Given the description of an element on the screen output the (x, y) to click on. 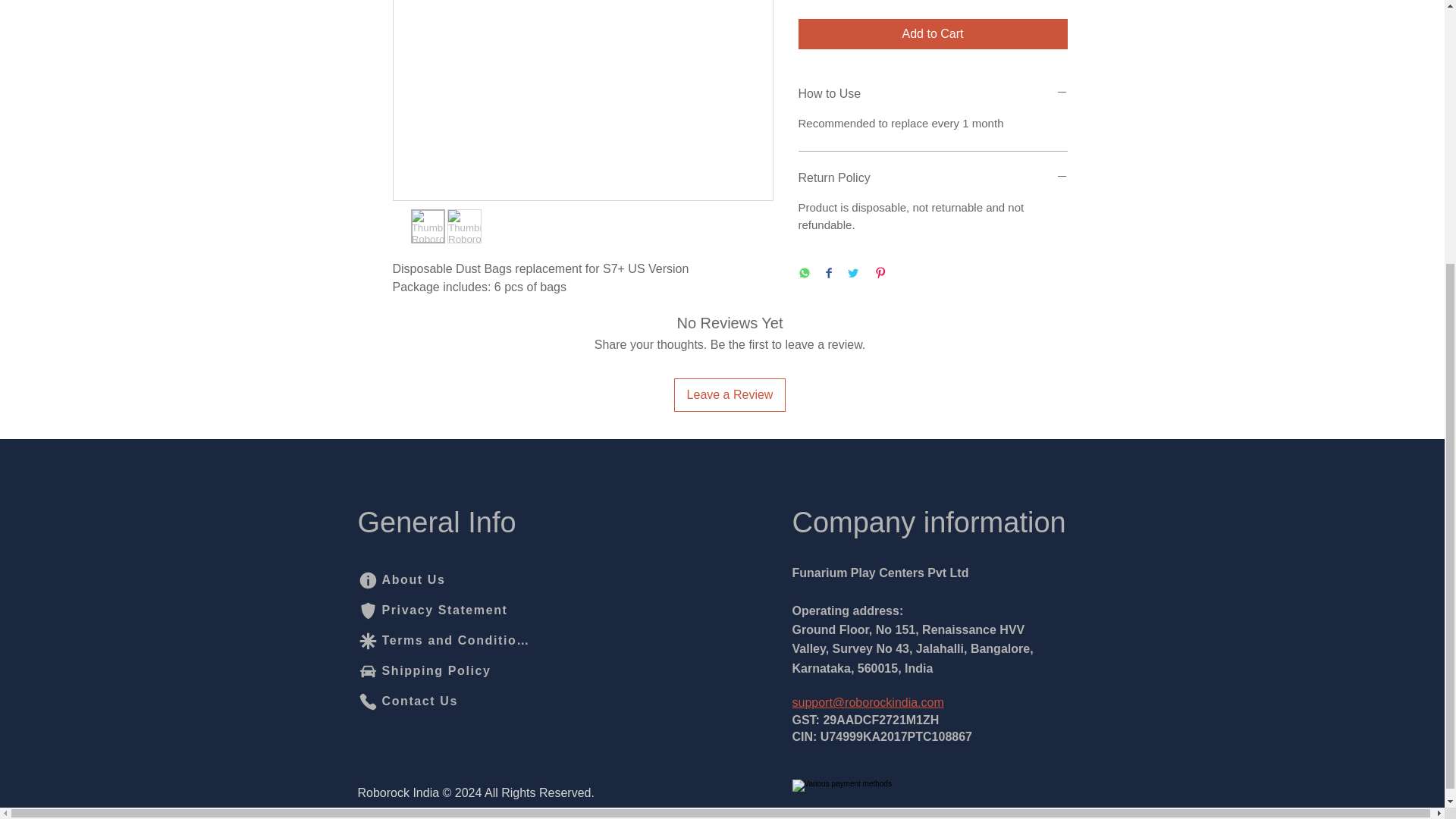
About Us (433, 580)
How to Use (932, 93)
Return Policy (932, 177)
Terms and Conditions (444, 640)
Add to Cart (932, 33)
Contact Us (410, 701)
Privacy Statement (433, 610)
Shipping Policy (433, 671)
Leave a Review (730, 394)
